Given the description of an element on the screen output the (x, y) to click on. 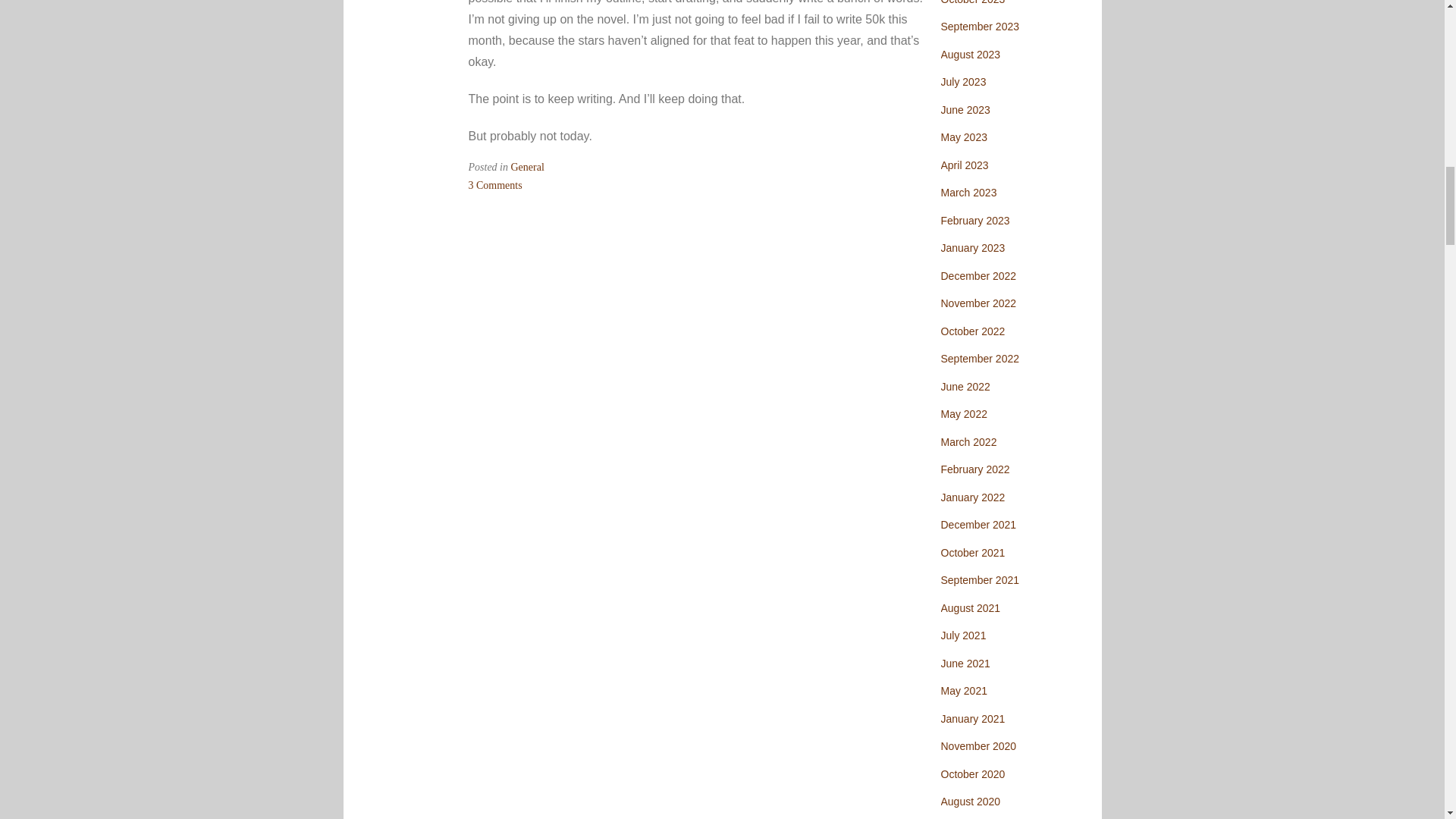
August 2023 (970, 54)
June 2023 (965, 110)
March 2023 (967, 192)
July 2023 (962, 81)
April 2023 (964, 164)
General (527, 166)
October 2023 (972, 2)
February 2023 (974, 220)
December 2022 (978, 275)
January 2023 (972, 247)
May 2023 (963, 137)
September 2023 (495, 184)
